Given the description of an element on the screen output the (x, y) to click on. 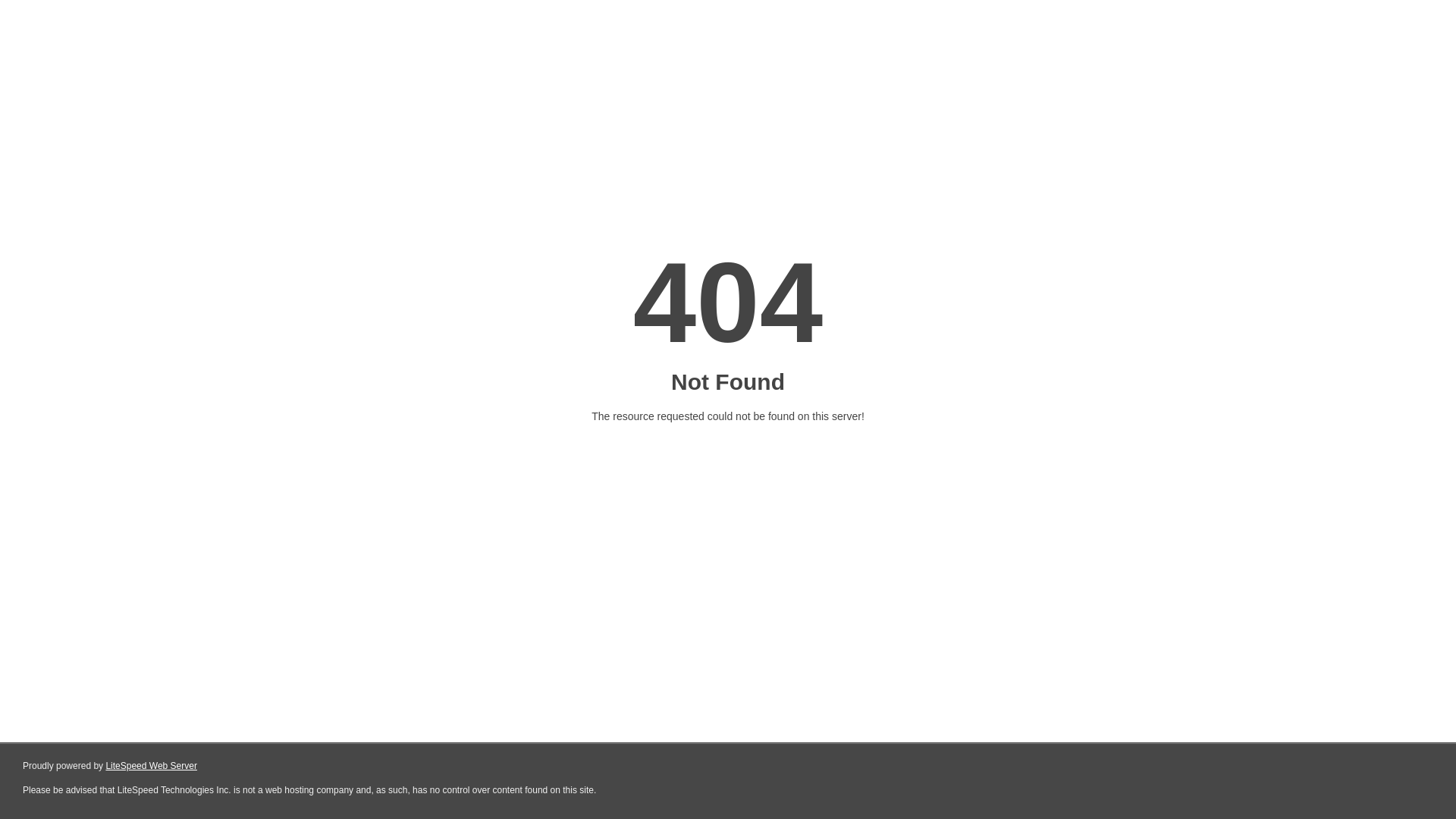
LiteSpeed Web Server Element type: text (151, 765)
